Given the description of an element on the screen output the (x, y) to click on. 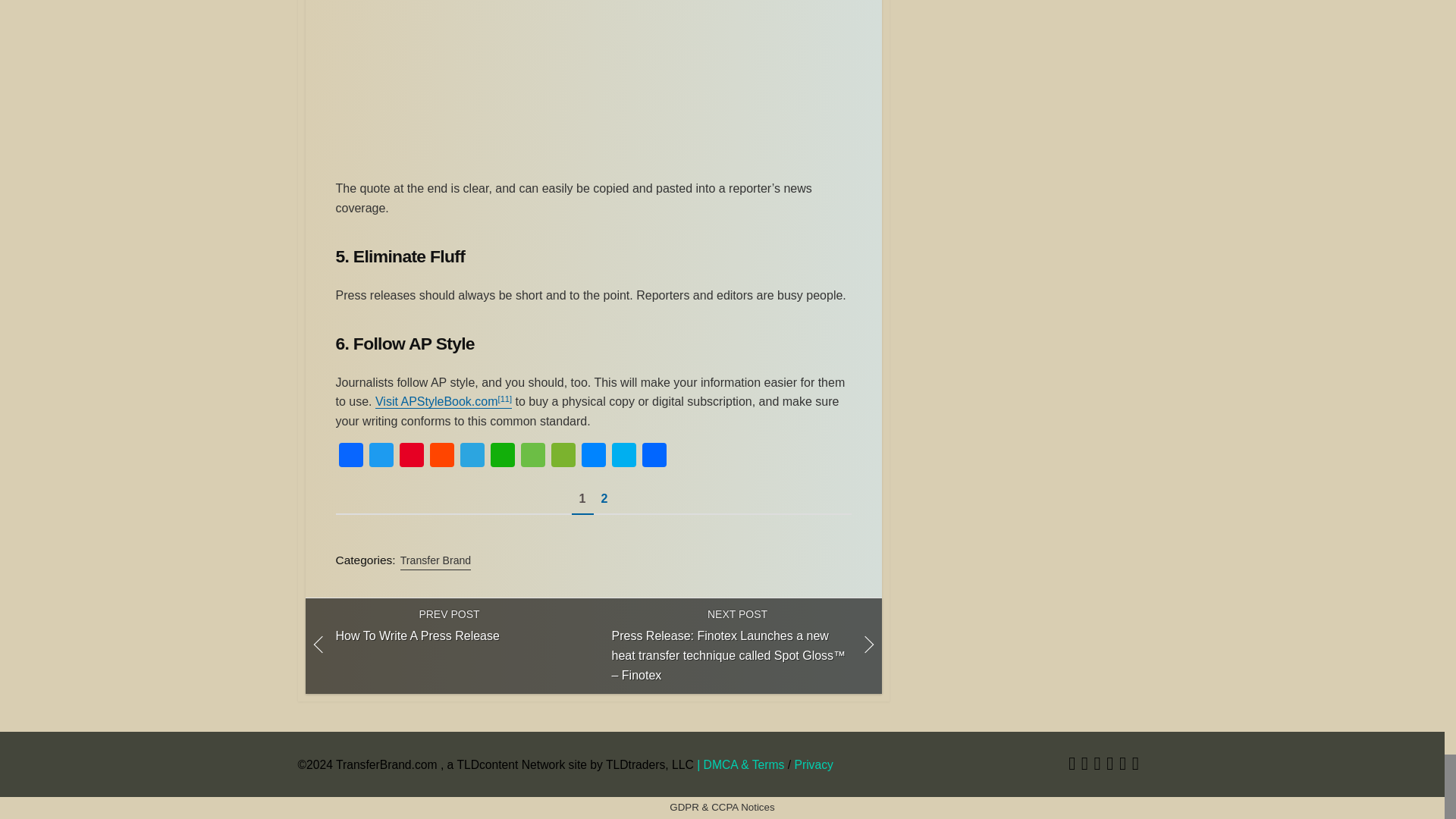
Facebook (349, 456)
WhatsApp (501, 456)
Pinterest (411, 456)
Skype (623, 456)
Message (531, 456)
Reddit (441, 456)
WeChat (562, 456)
Telegram (471, 456)
Messenger (593, 456)
Visit APStyleBook.com (436, 400)
Twitter (1071, 765)
Twitter (380, 456)
